Given the description of an element on the screen output the (x, y) to click on. 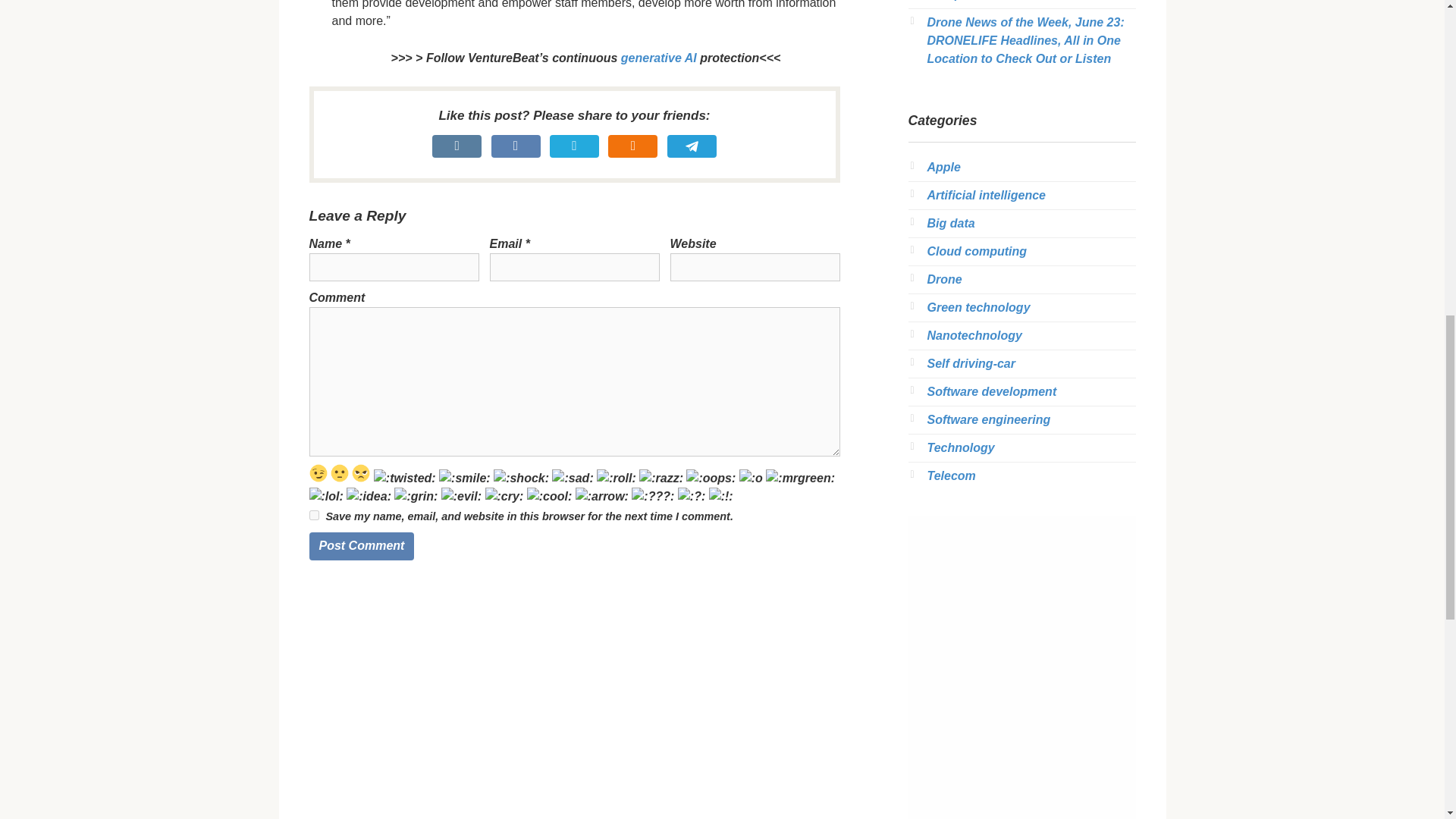
Cloud computing (976, 250)
Green technology (977, 307)
Software development (991, 391)
Telecom (950, 475)
yes (313, 515)
Drone (943, 278)
Artificial intelligence (985, 195)
Technology (960, 447)
Post Comment (361, 546)
Software engineering (987, 419)
